Given the description of an element on the screen output the (x, y) to click on. 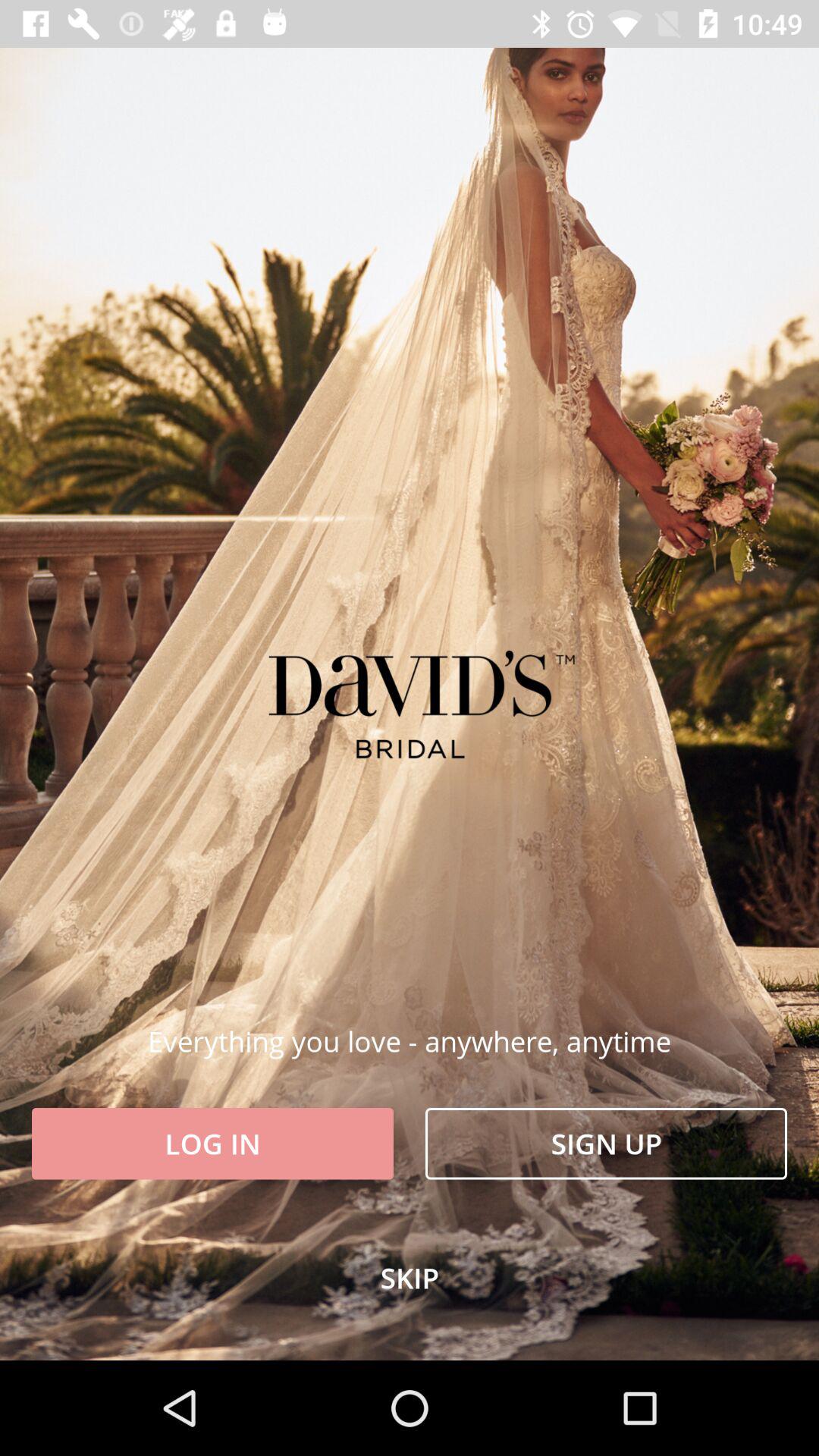
choose the item next to the sign up (212, 1143)
